Given the description of an element on the screen output the (x, y) to click on. 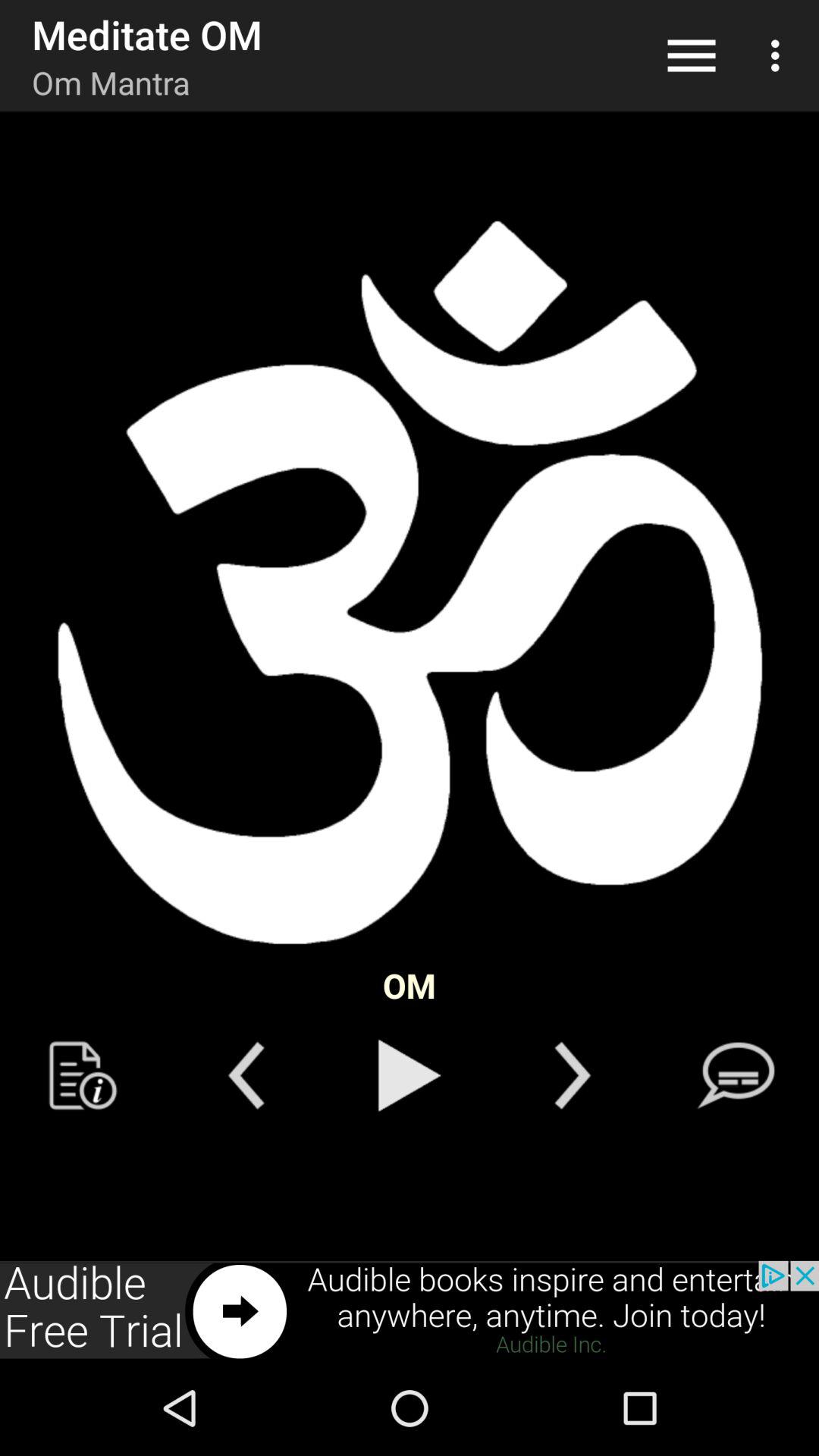
go to next (572, 1075)
